Given the description of an element on the screen output the (x, y) to click on. 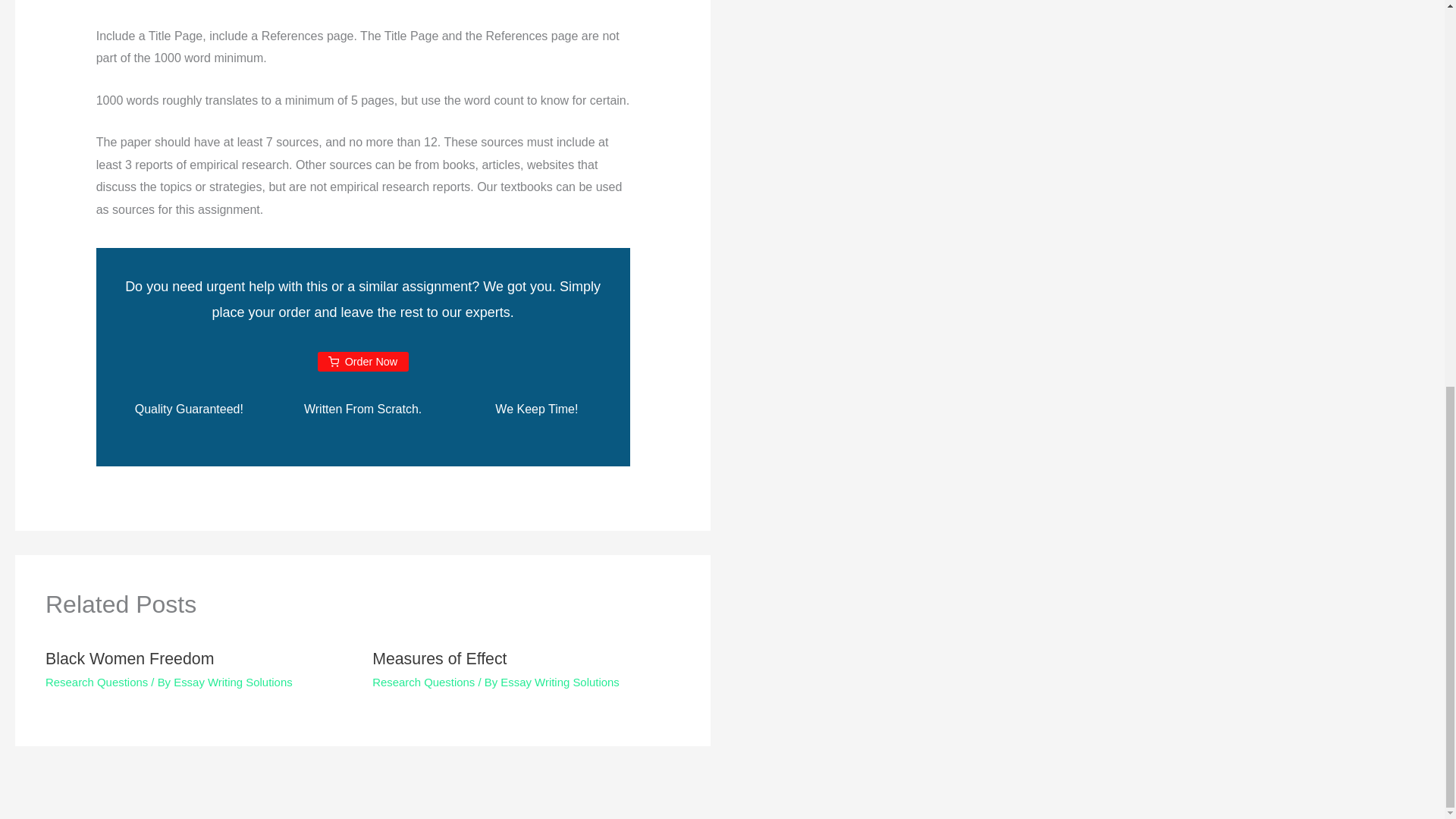
View all posts by Essay Writing Solutions (232, 681)
View all posts by Essay Writing Solutions (559, 681)
